Given the description of an element on the screen output the (x, y) to click on. 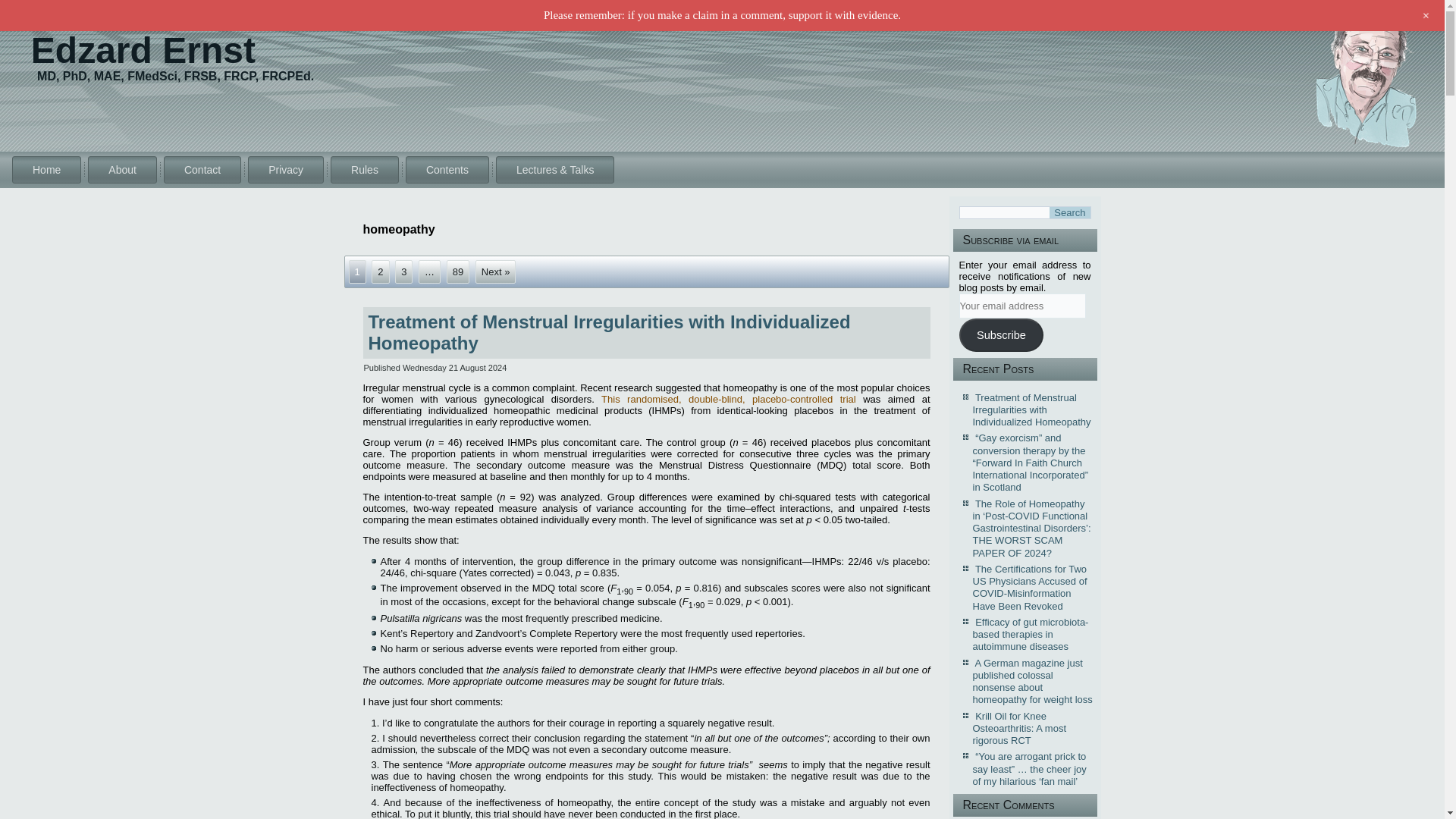
Privacy (285, 169)
This randomised, double-blind, placebo-controlled trial (728, 398)
About (122, 169)
Search (1069, 212)
Edzard Ernst (143, 50)
08:50 (454, 367)
89 (457, 271)
Contents (447, 169)
